Given the description of an element on the screen output the (x, y) to click on. 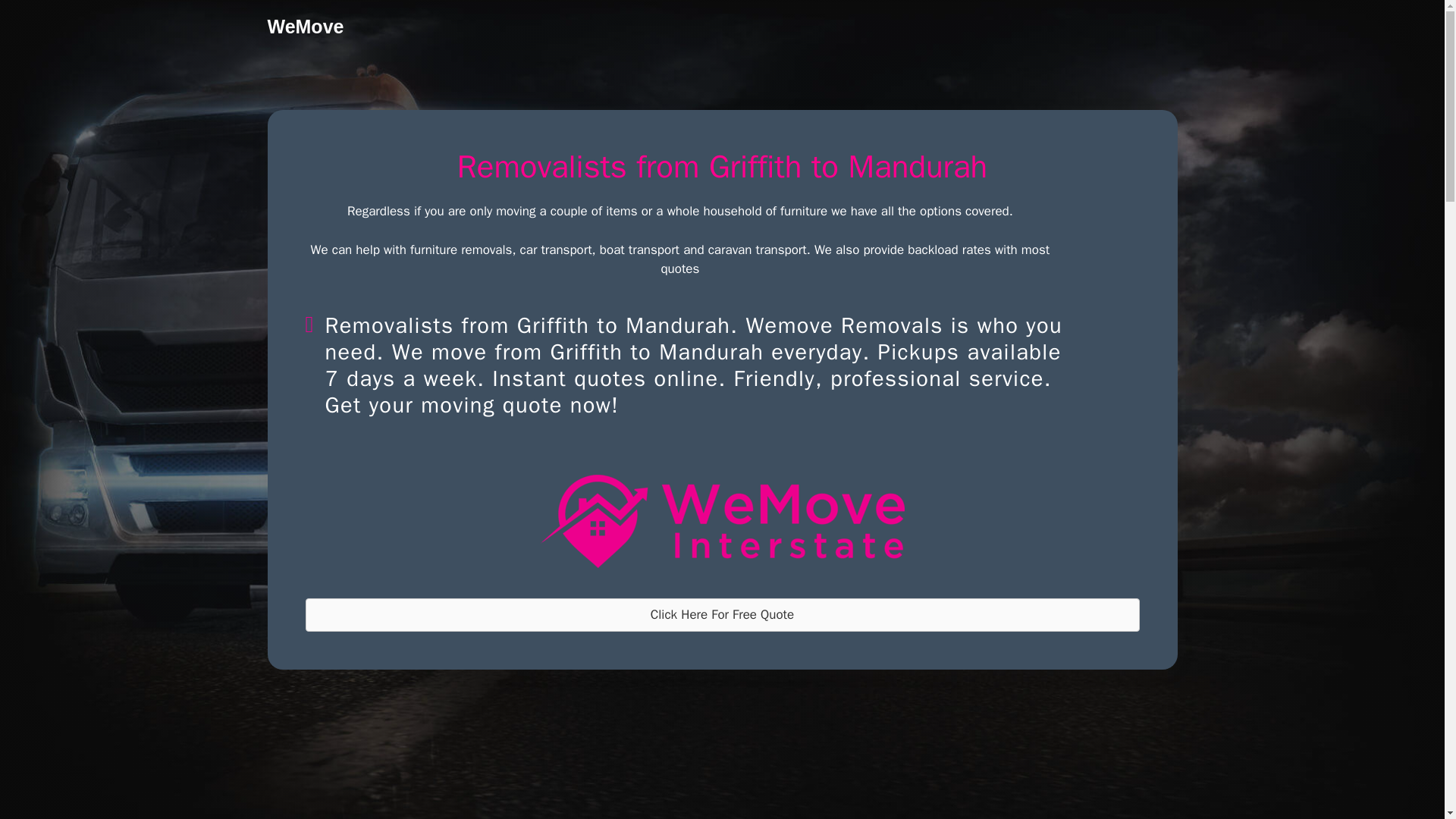
Wemove Removalists (722, 521)
Click Here For Free Quote (721, 614)
WeMove (304, 25)
